Given the description of an element on the screen output the (x, y) to click on. 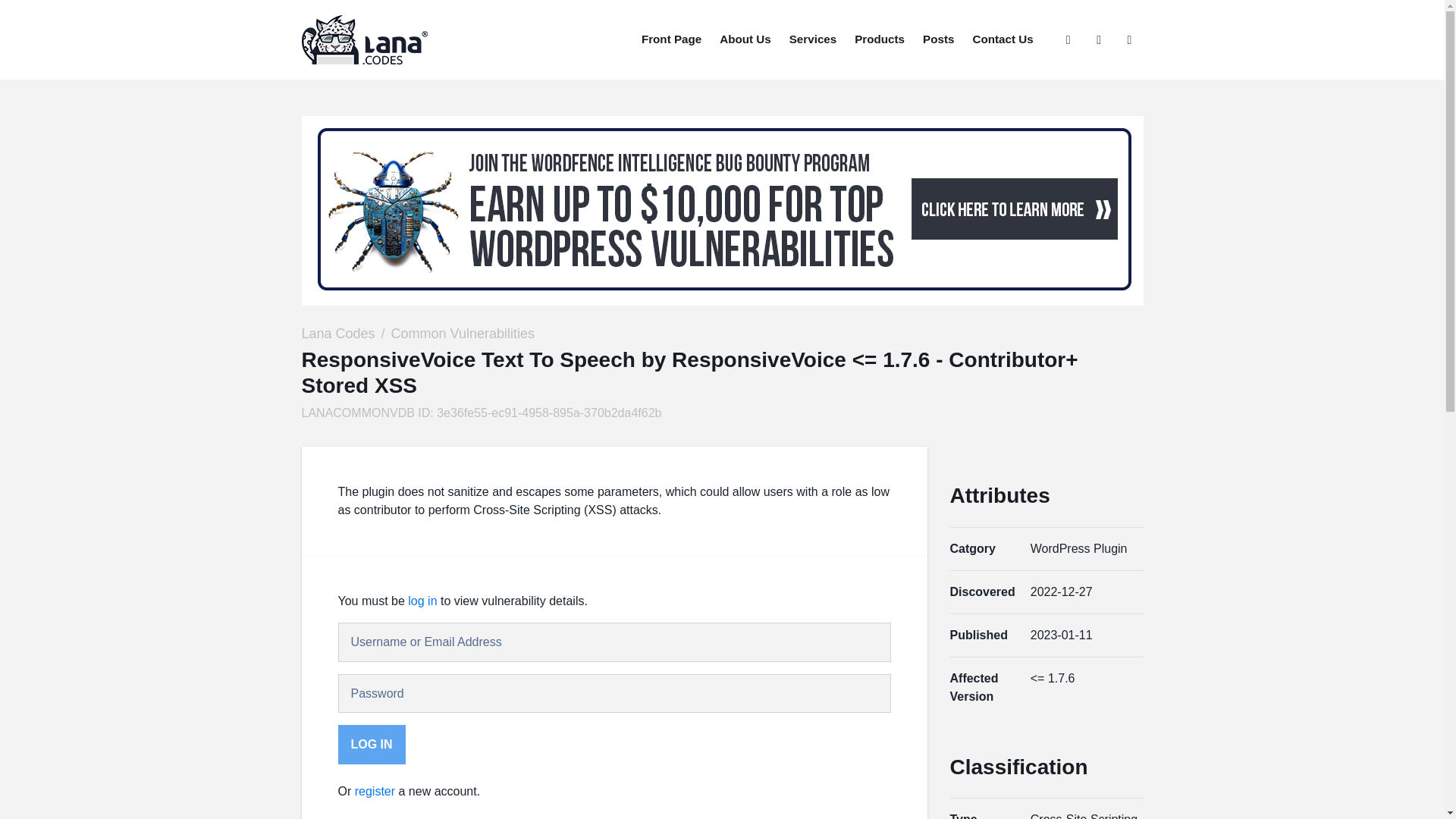
Products (879, 39)
log in (421, 600)
Front Page (670, 39)
Lana Codes (338, 333)
Common Vulnerabilities (462, 333)
Posts (938, 39)
Services (812, 39)
register (374, 790)
About Us (745, 39)
LOG IN (371, 744)
Contact Us (1002, 39)
